Given the description of an element on the screen output the (x, y) to click on. 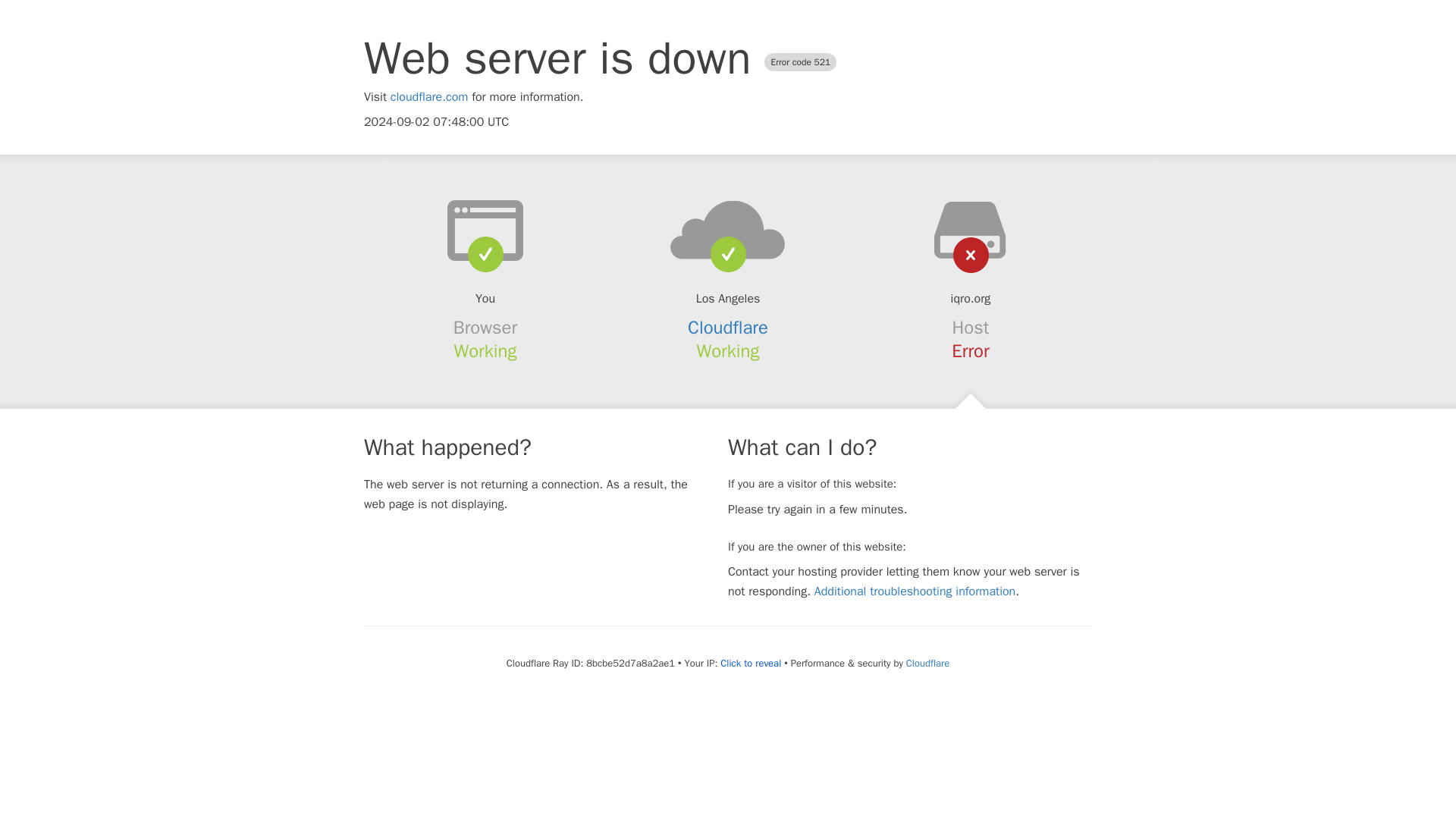
Click to reveal (750, 663)
Cloudflare (927, 662)
Additional troubleshooting information (913, 590)
Cloudflare (727, 327)
cloudflare.com (429, 96)
